Given the description of an element on the screen output the (x, y) to click on. 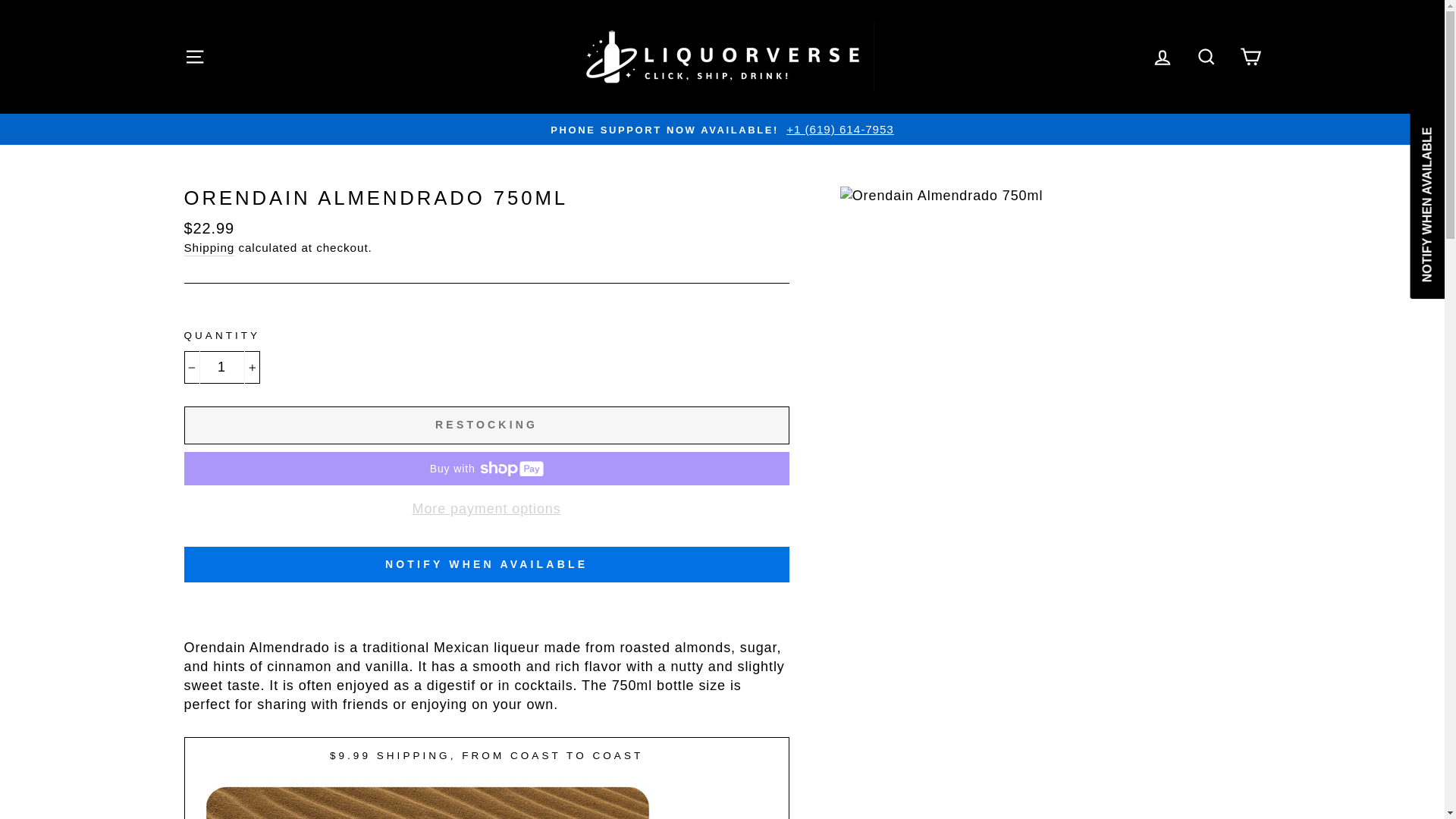
NOTIFY WHEN AVAILABLE (486, 565)
SITE NAVIGATION (194, 56)
CART (1249, 56)
RESTOCKING (486, 425)
1 (221, 367)
SEARCH (1205, 56)
Shipping (208, 247)
LOG IN (1162, 56)
More payment options (486, 508)
